Given the description of an element on the screen output the (x, y) to click on. 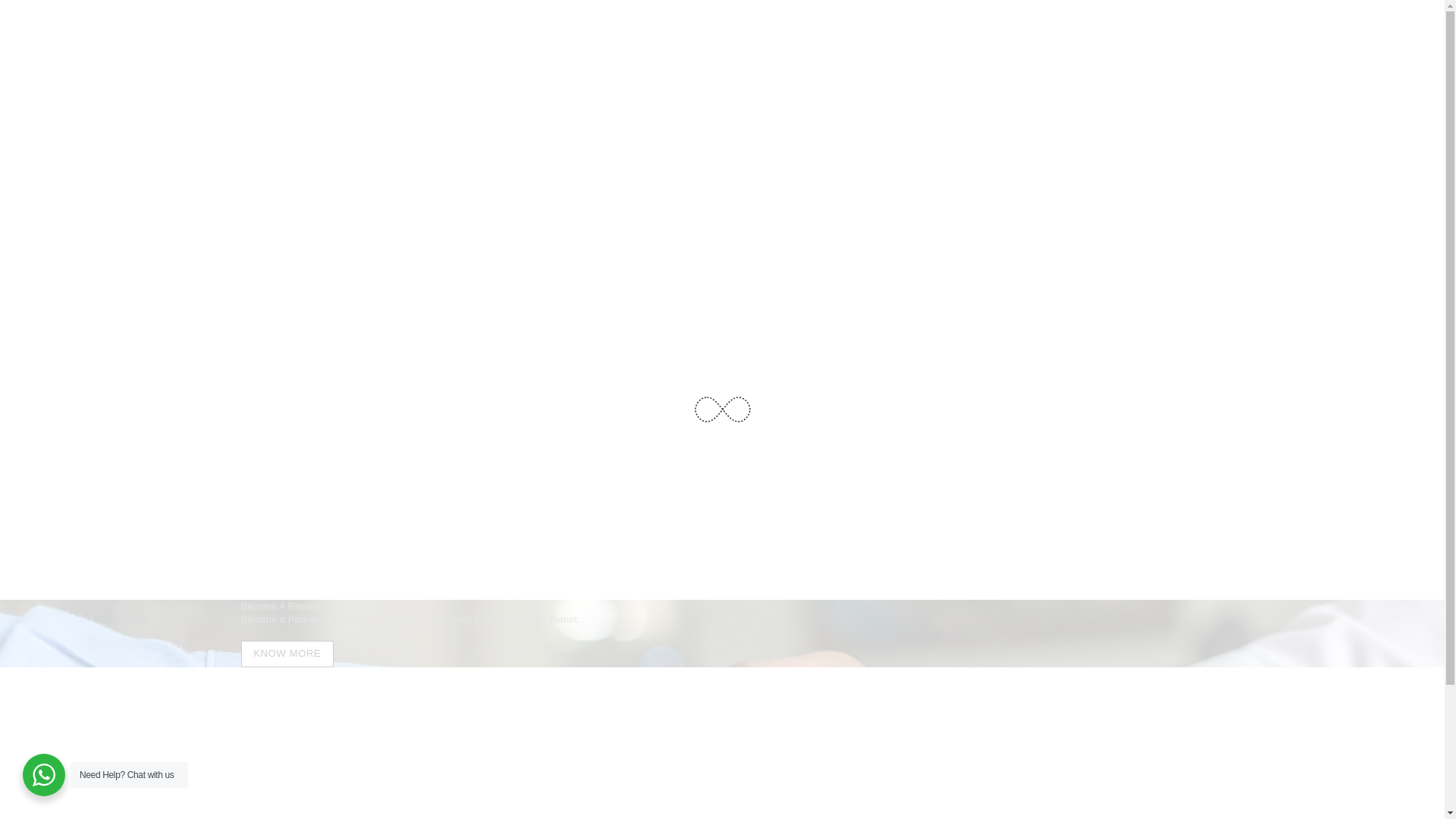
Store (498, 768)
KNOW MORE (287, 653)
Custom Materials (689, 768)
Technical Support (552, 768)
Blogs (607, 768)
Return Policy (759, 768)
Resources (554, 781)
Privacy Policy (681, 781)
Contact Us (510, 794)
About Us (506, 781)
